Given the description of an element on the screen output the (x, y) to click on. 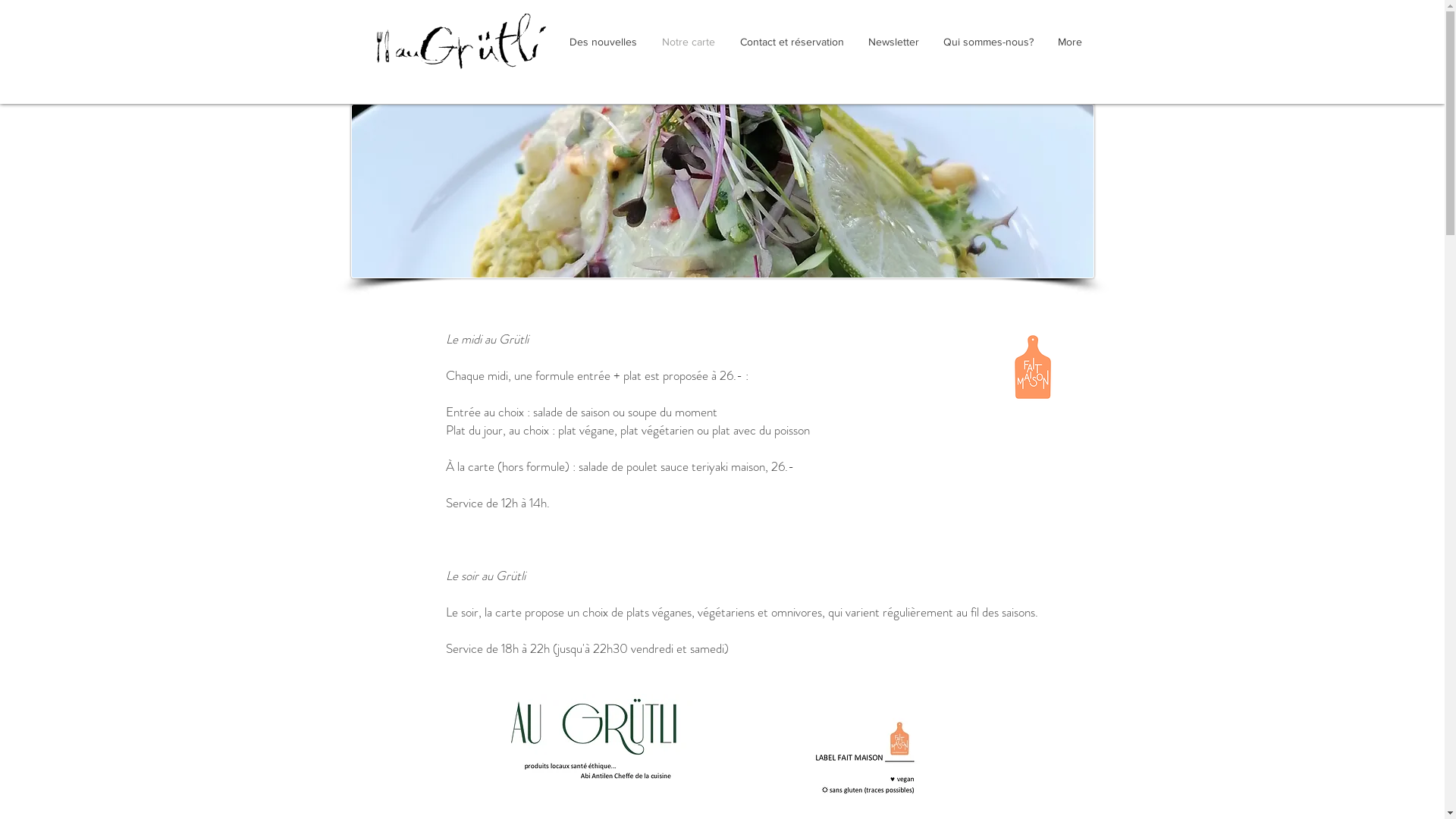
Des nouvelles Element type: text (602, 41)
Newsletter Element type: text (892, 41)
Notre carte Element type: text (688, 41)
Qui sommes-nous? Element type: text (988, 41)
